Given the description of an element on the screen output the (x, y) to click on. 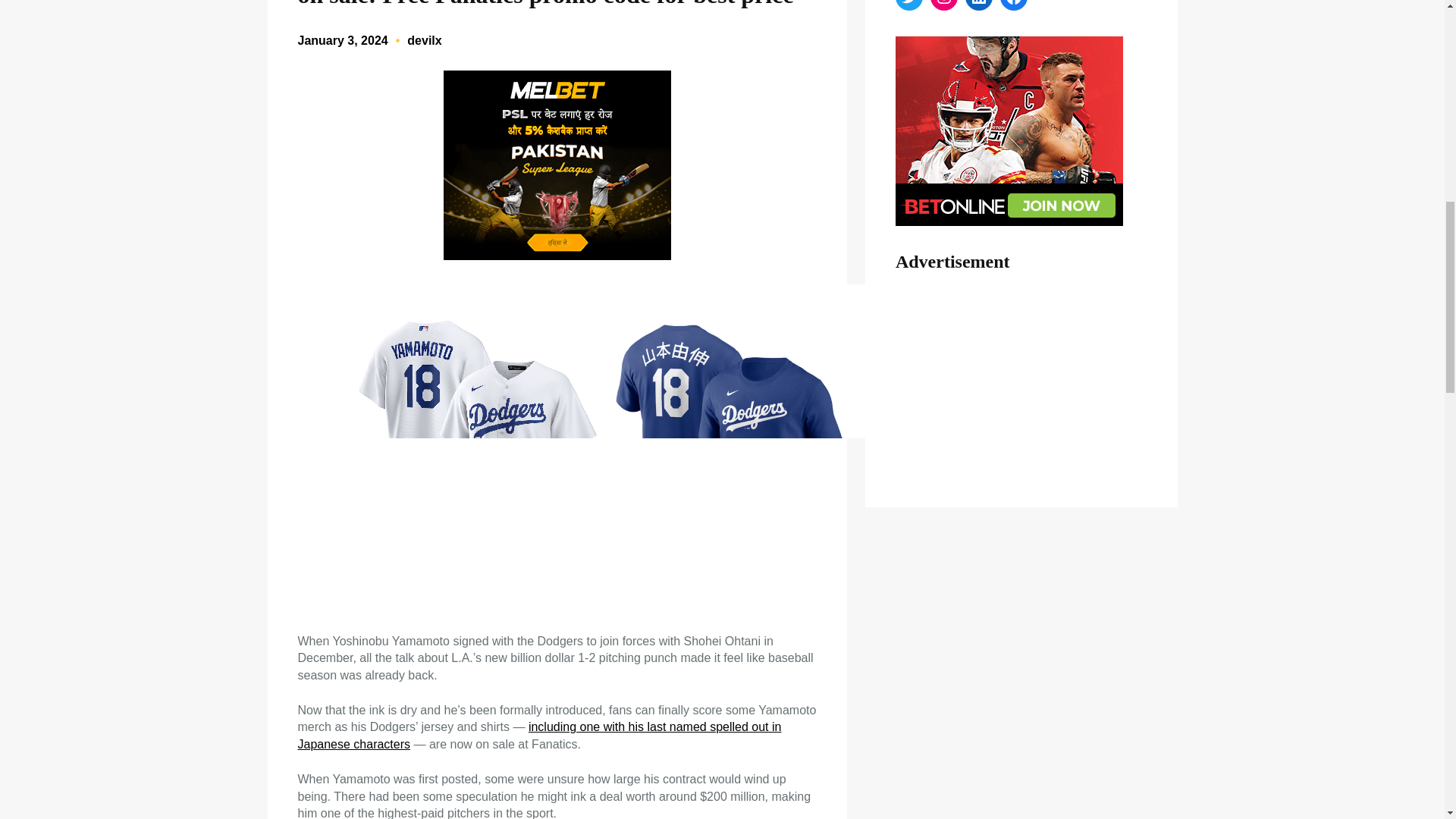
Instagram (944, 5)
LinkedIn (978, 5)
Facebook (1013, 5)
Twitter (909, 5)
devilx (424, 40)
